Given the description of an element on the screen output the (x, y) to click on. 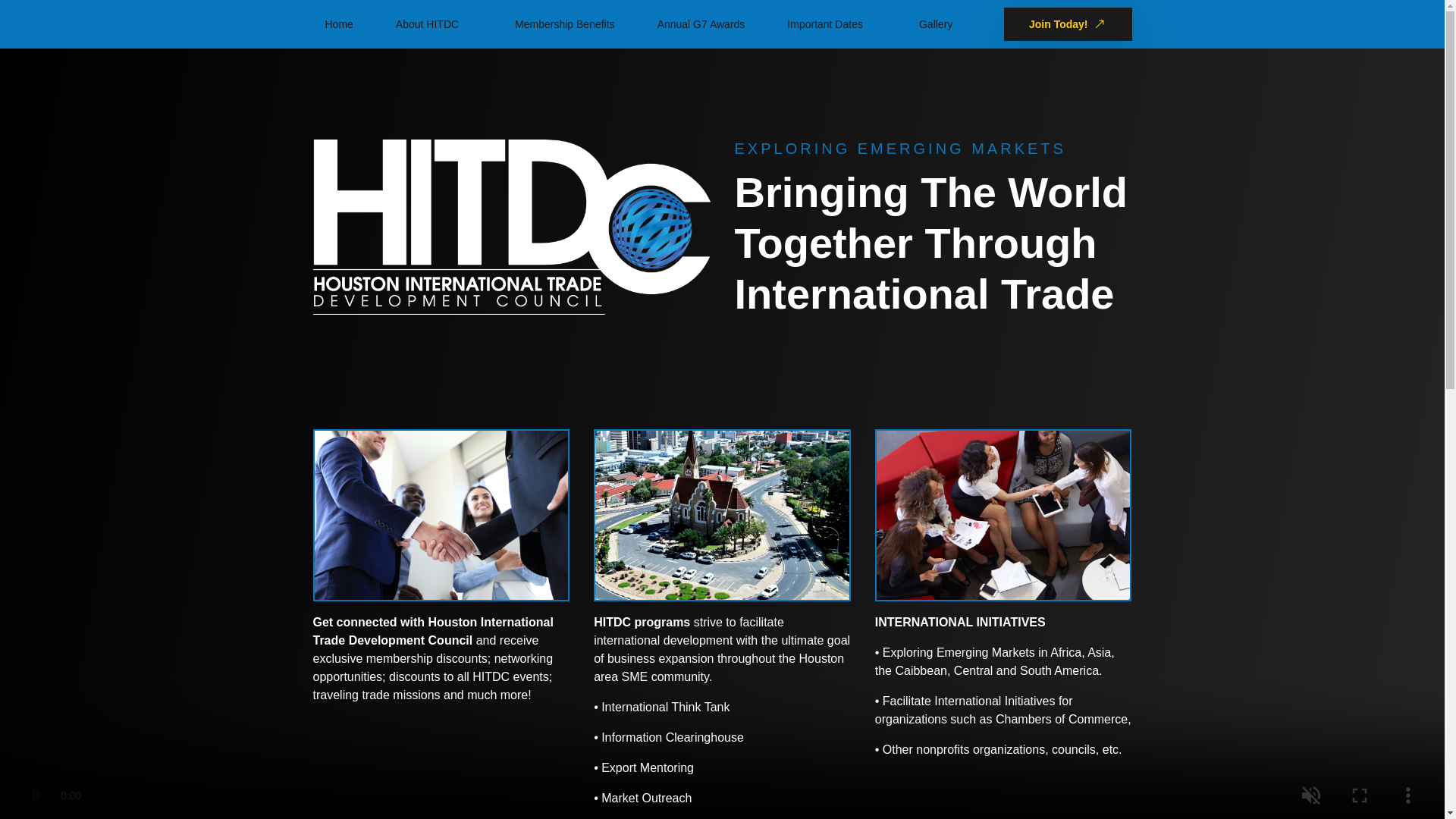
Membership Benefits (564, 24)
Home (339, 24)
About HITDC (421, 24)
Gallery (935, 24)
Annual G7 Awards (701, 24)
Join Today! (1068, 23)
Important Dates (818, 24)
